Given the description of an element on the screen output the (x, y) to click on. 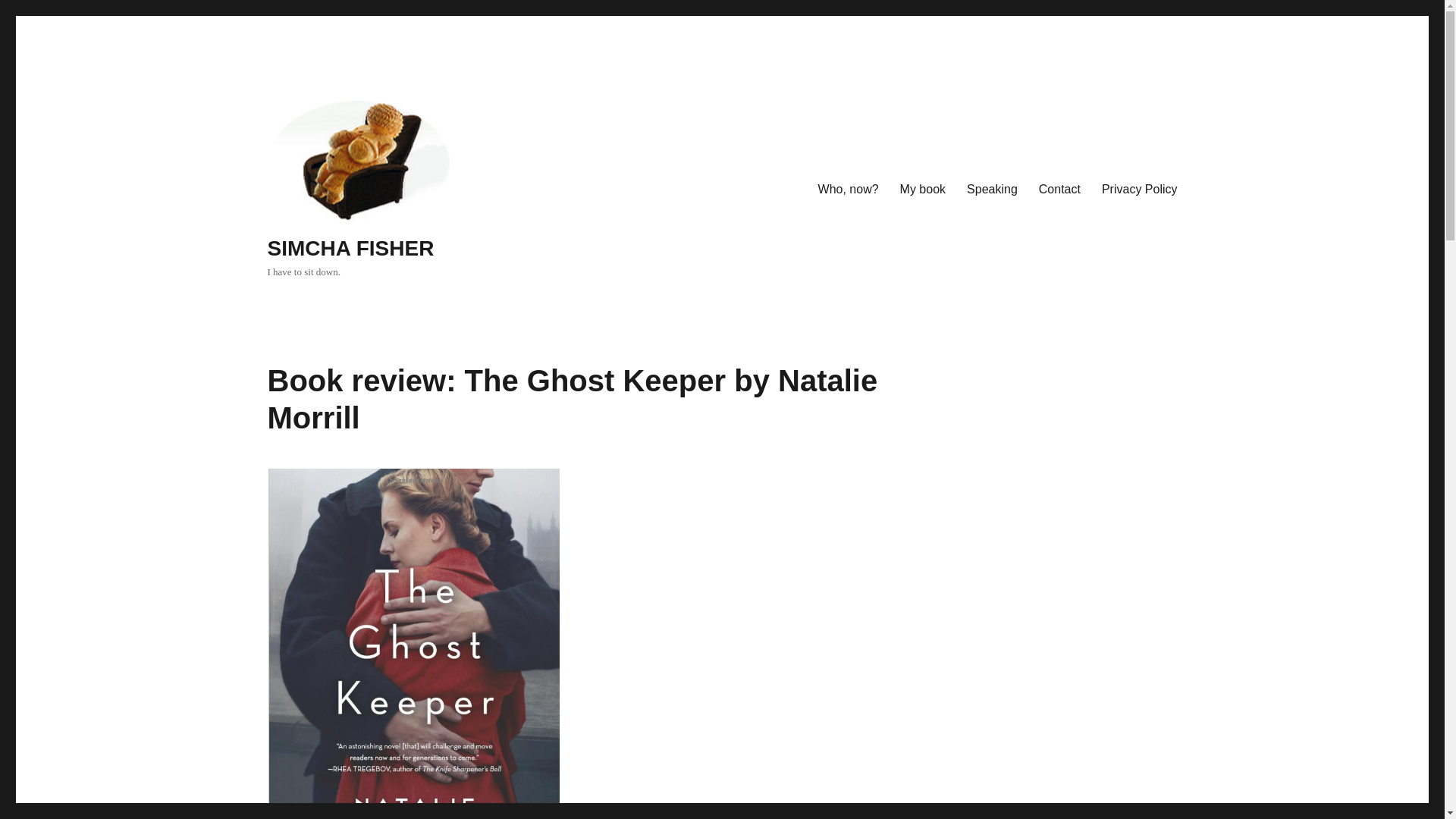
Contact (1058, 189)
SIMCHA FISHER (349, 248)
Who, now? (848, 189)
Speaking (991, 189)
Privacy Policy (1139, 189)
SUBSCRIBE (988, 516)
My book (922, 189)
